Given the description of an element on the screen output the (x, y) to click on. 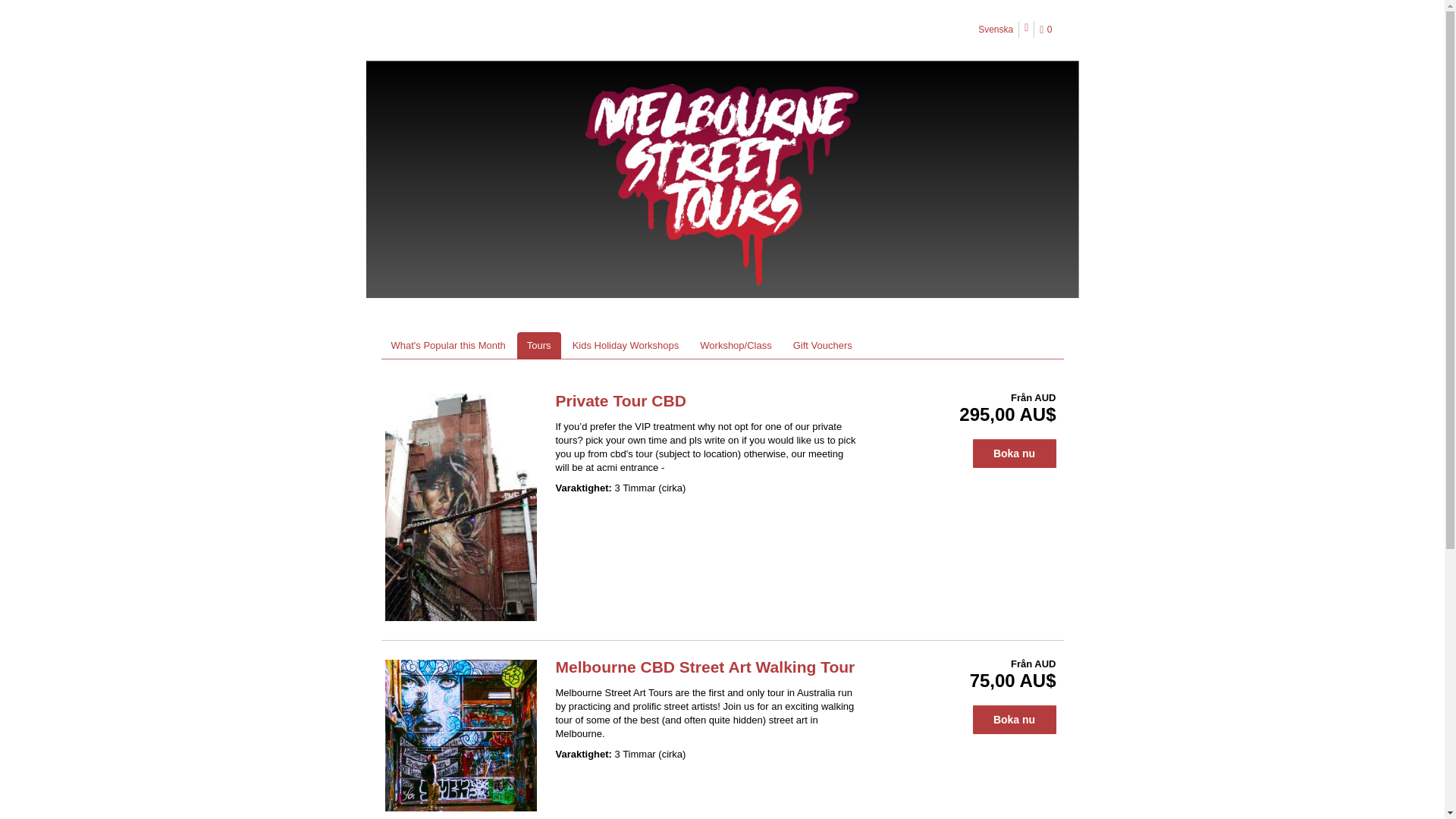
What's Popular this Month (447, 345)
Svenska (995, 29)
Melbourne CBD Street Art Walking Tour (704, 666)
Tours (538, 345)
Boka nu (1013, 452)
Gift Vouchers (822, 345)
Kids Holiday Workshops (625, 345)
Private Tour CBD (619, 400)
0 (1047, 30)
